Given the description of an element on the screen output the (x, y) to click on. 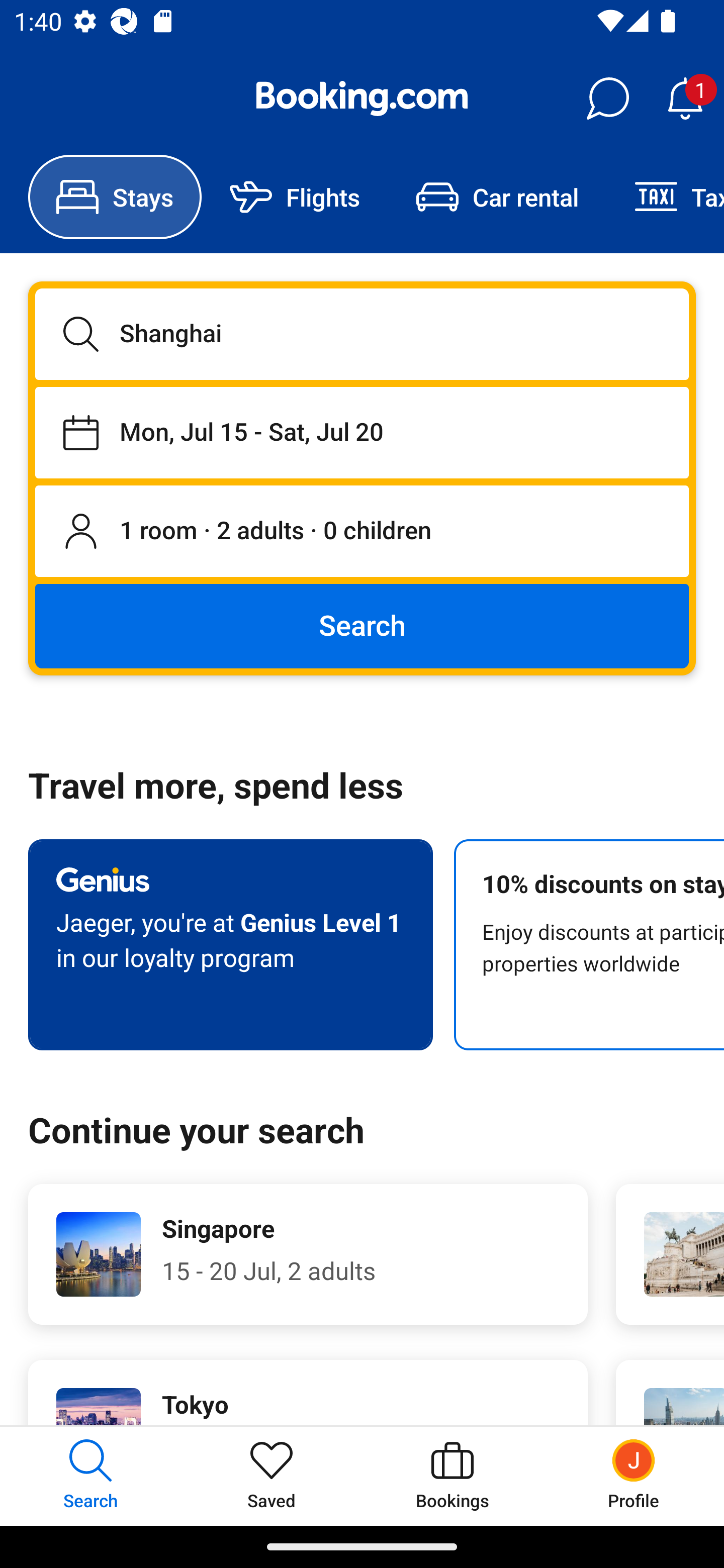
Messages (607, 98)
Notifications (685, 98)
Stays (114, 197)
Flights (294, 197)
Car rental (497, 197)
Taxi (665, 197)
Shanghai (361, 333)
Staying from Mon, Jul 15 until Sat, Jul 20 (361, 432)
1 room, 2 adults, 0 children (361, 531)
Search (361, 625)
Singapore 15 - 20 Jul, 2 adults (307, 1253)
Saved (271, 1475)
Bookings (452, 1475)
Profile (633, 1475)
